Given the description of an element on the screen output the (x, y) to click on. 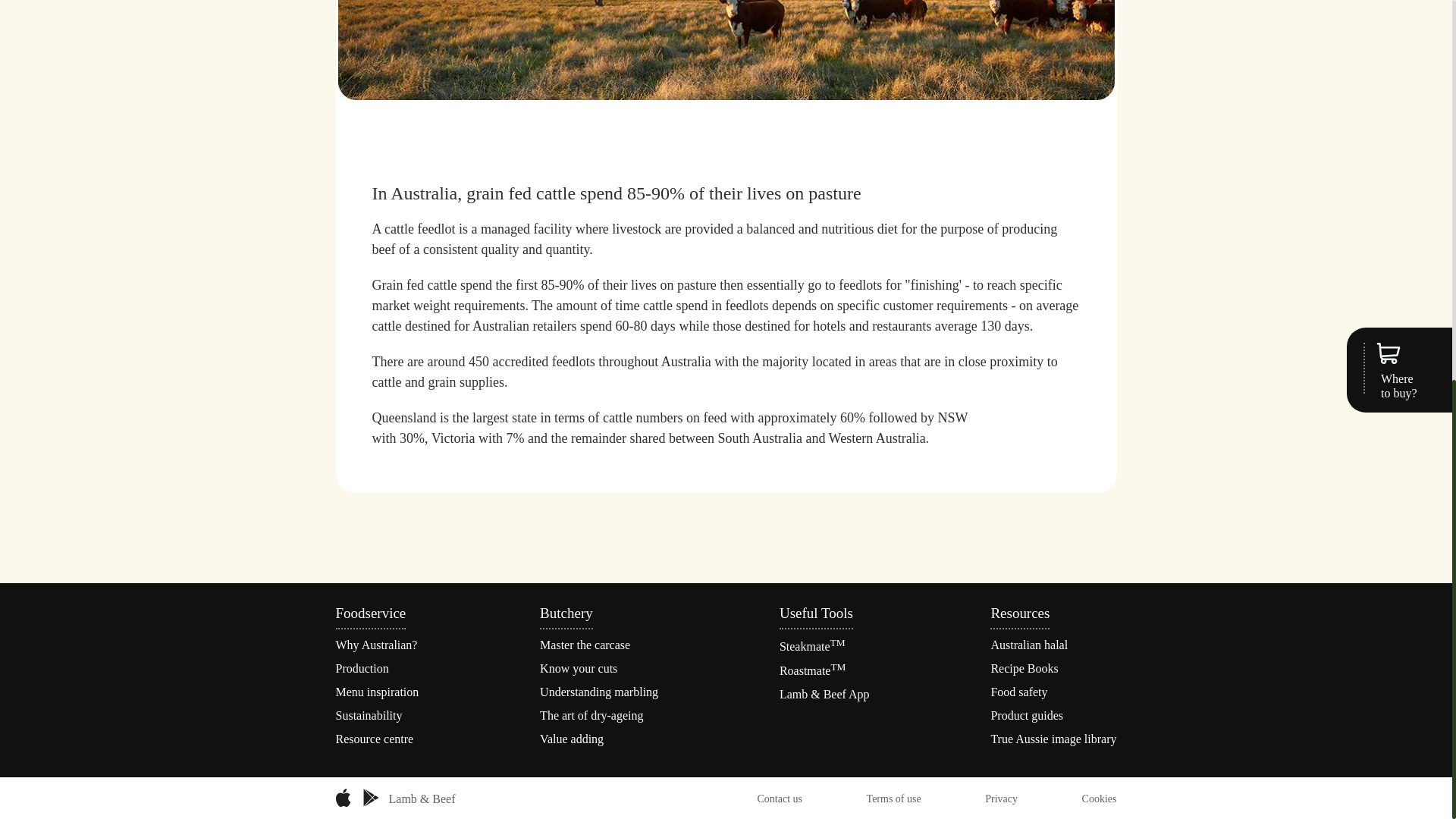
Sustainability (367, 715)
Foodservice (370, 612)
Menu inspiration (376, 691)
RoastmateTM (811, 670)
Production (361, 667)
Australian halal (1028, 644)
Product guides (1026, 715)
Resource centre (373, 738)
Why Australian? (375, 644)
Butchery (566, 612)
Recipe Books (1024, 667)
Resources (1019, 612)
The art of dry-ageing (591, 715)
SteakmateTM (811, 645)
Know your cuts (578, 667)
